Given the description of an element on the screen output the (x, y) to click on. 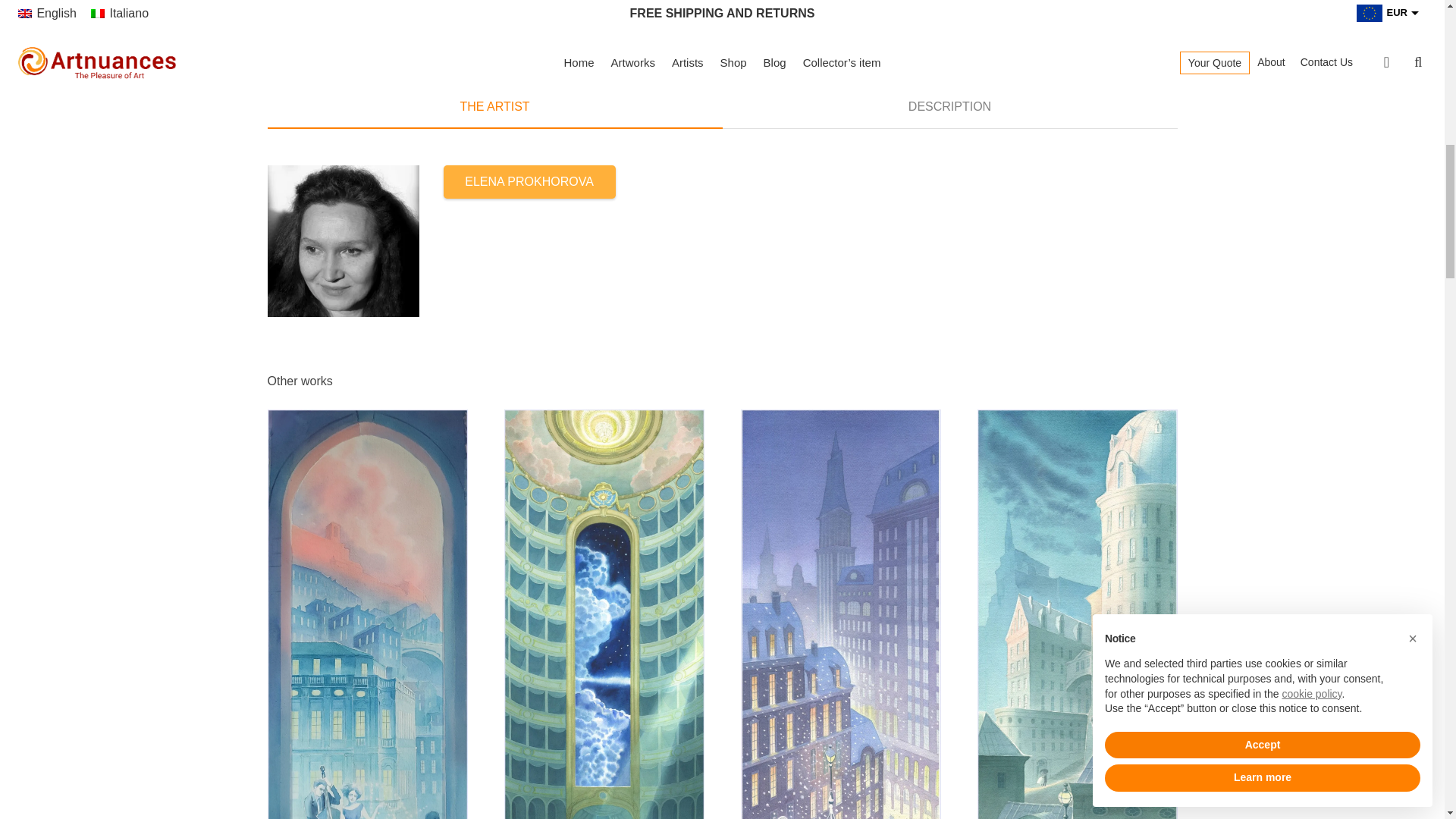
Back to top (1413, 26)
DESCRIPTION (949, 106)
THE ARTIST (494, 106)
